Given the description of an element on the screen output the (x, y) to click on. 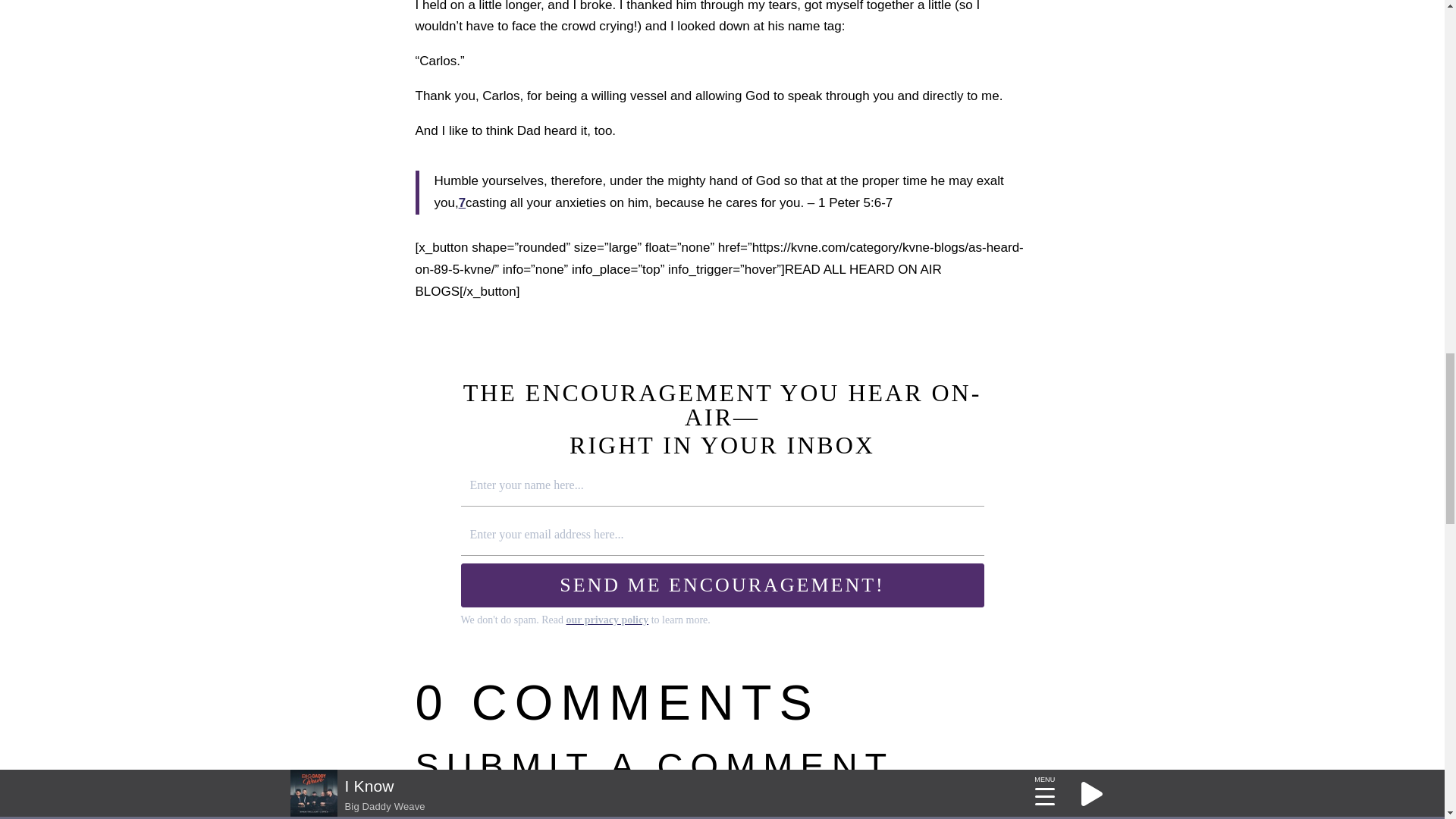
SEND ME ENCOURAGEMENT! (722, 585)
